Given the description of an element on the screen output the (x, y) to click on. 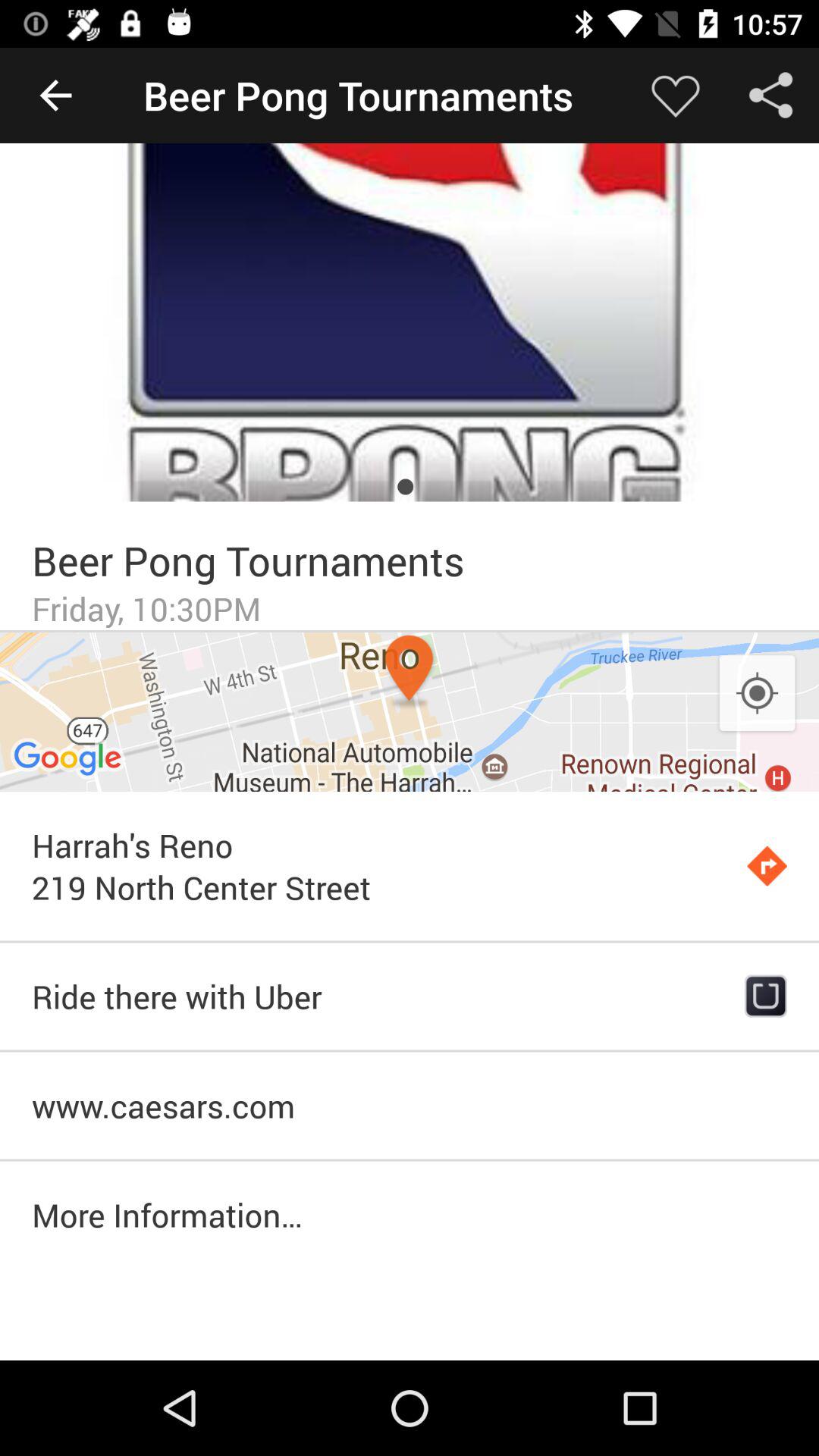
choose the item at the top left corner (55, 95)
